Given the description of an element on the screen output the (x, y) to click on. 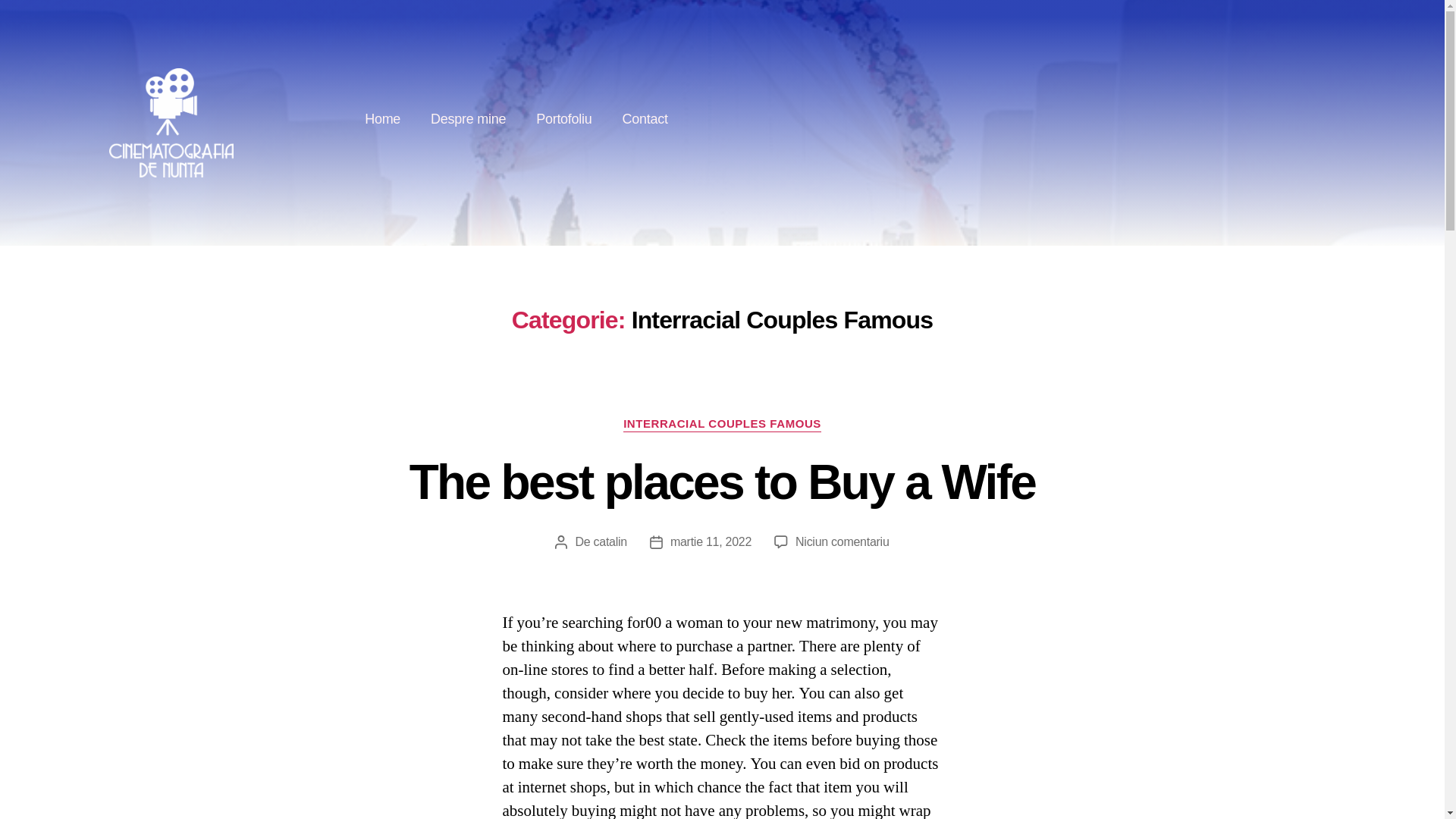
Portofoliu (564, 118)
martie 11, 2022 (710, 541)
Home (381, 118)
The best places to Buy a Wife (722, 482)
Despre mine (467, 118)
catalin (610, 541)
INTERRACIAL COUPLES FAMOUS (722, 424)
Contact (644, 118)
Niciun comentariu (841, 541)
